Given the description of an element on the screen output the (x, y) to click on. 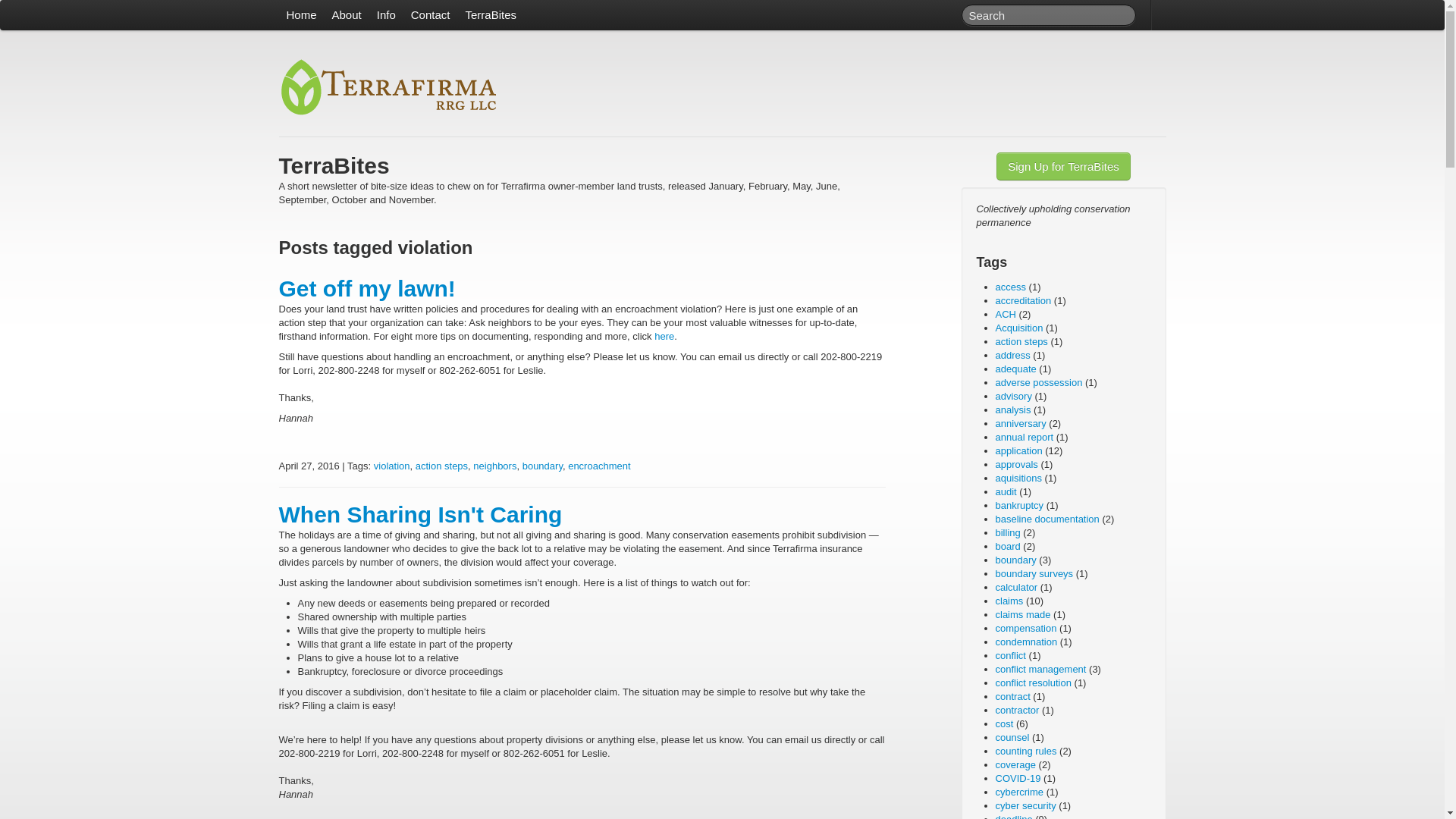
approvals (1015, 464)
About (346, 15)
violation (392, 465)
application (1018, 450)
title (389, 87)
access (1009, 286)
analysis (1012, 409)
boundary (542, 465)
adverse possession (1037, 382)
action steps (440, 465)
Info (386, 15)
accreditation (1022, 300)
aquisitions (1017, 478)
ACH (1004, 314)
When Sharing Isn't Caring (420, 514)
